Given the description of an element on the screen output the (x, y) to click on. 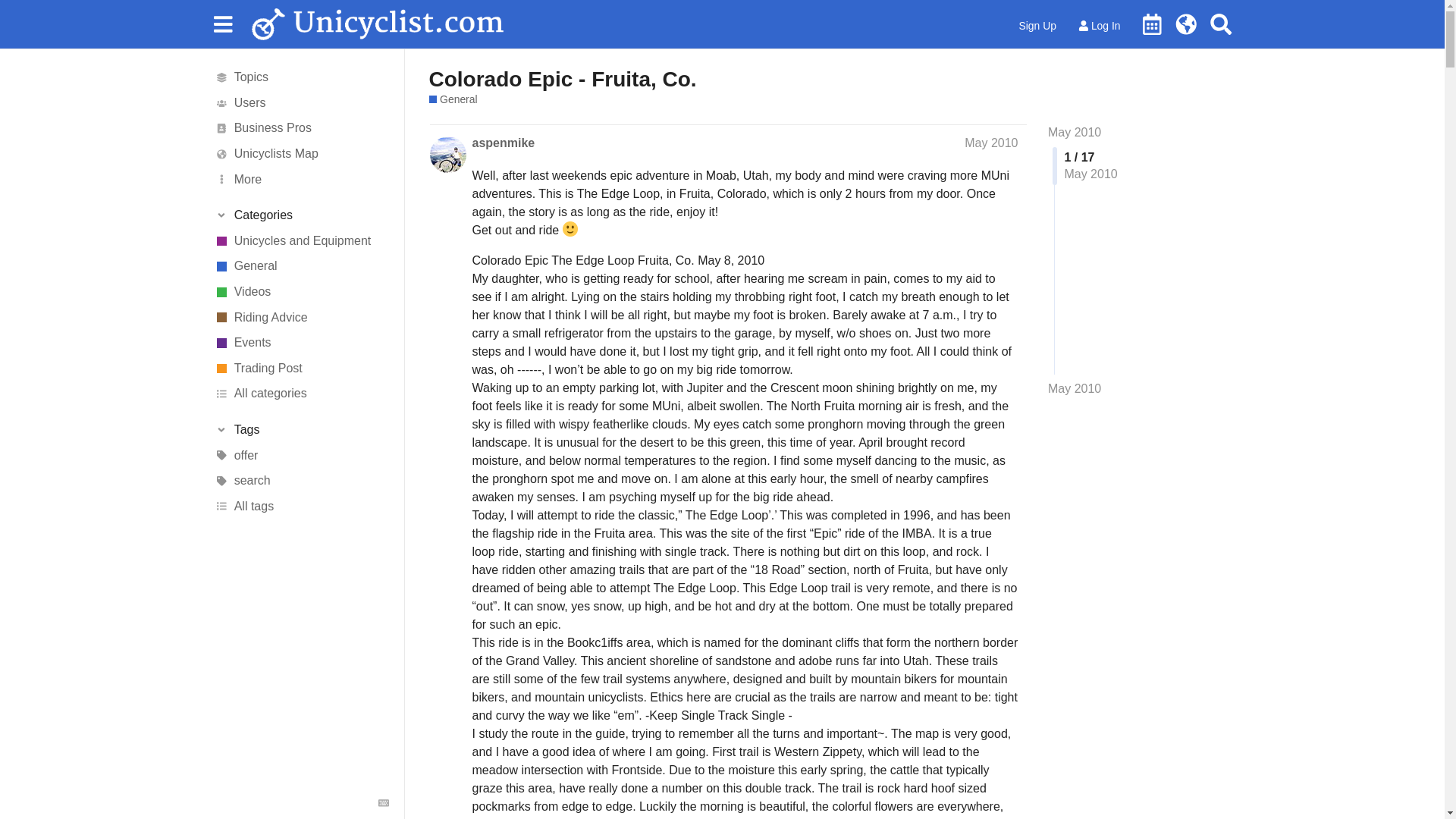
aspenmike (502, 143)
Trading Post (301, 368)
All tags (301, 506)
Categories (301, 216)
Sidebar (222, 23)
Videos (301, 291)
Unicycle Calendar (1152, 23)
search (301, 481)
May 2010 (1074, 132)
Events (301, 343)
Unicycle Calendar (1152, 23)
Unicyclists Map (301, 153)
Sign Up (1037, 25)
